Given the description of an element on the screen output the (x, y) to click on. 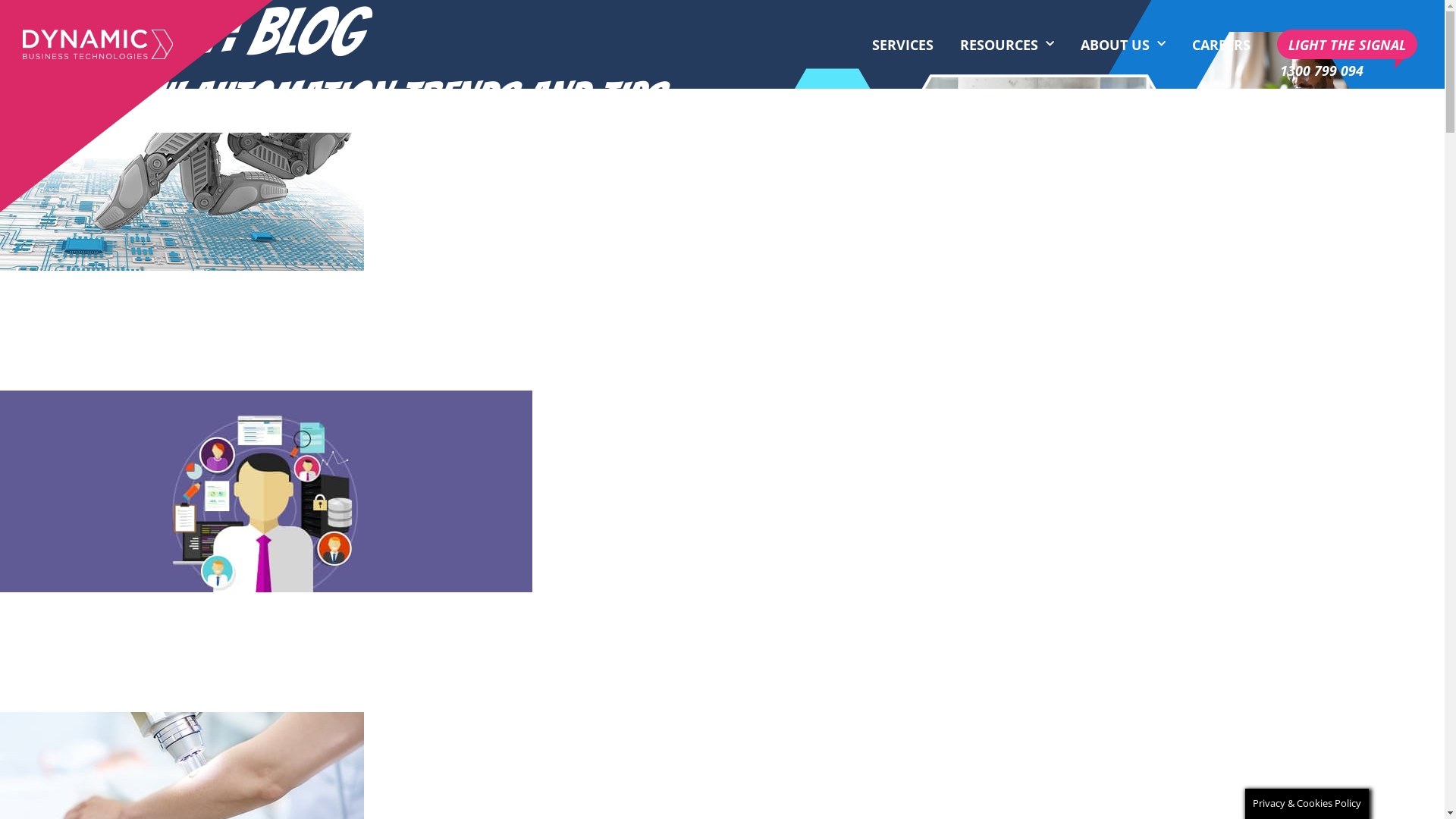
ABOUT US Element type: text (1122, 44)
SERVICES Element type: text (902, 44)
CAREERS Element type: text (1221, 44)
5 QUALITIES & SKILLS OF AN EFFECTIVE CIO Element type: text (324, 356)
RESOURCES Element type: text (1007, 44)
LIGHT THE SIGNAL Element type: text (1347, 44)
1300 799 094 Element type: text (1321, 69)
DYNAMIC ASSISTS CLINICS WITH DATA BACKUP Element type: text (352, 677)
WORKFLOW AUTOMATION TRENDS AND TIPS Element type: text (329, 98)
